Given the description of an element on the screen output the (x, y) to click on. 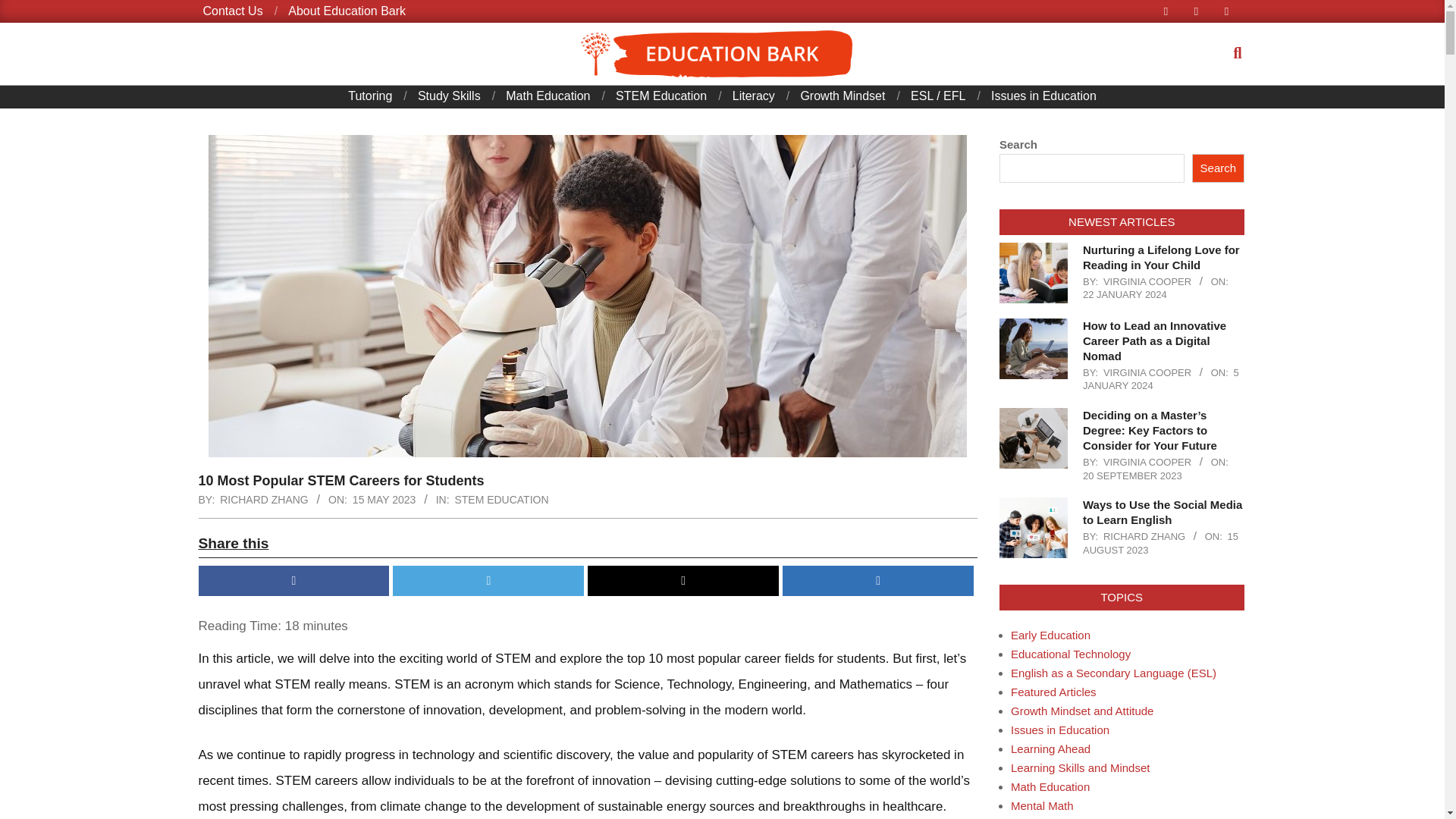
Study Skills (448, 95)
Search (26, 9)
RICHARD ZHANG (263, 499)
Growth Mindset (842, 95)
Monday, May 15, 2023, 10:35 pm (383, 499)
Posts by Richard Zhang (263, 499)
Tutoring (369, 95)
Contact Us (233, 10)
Posts by Virginia Cooper (1147, 281)
Math Education (547, 95)
